Given the description of an element on the screen output the (x, y) to click on. 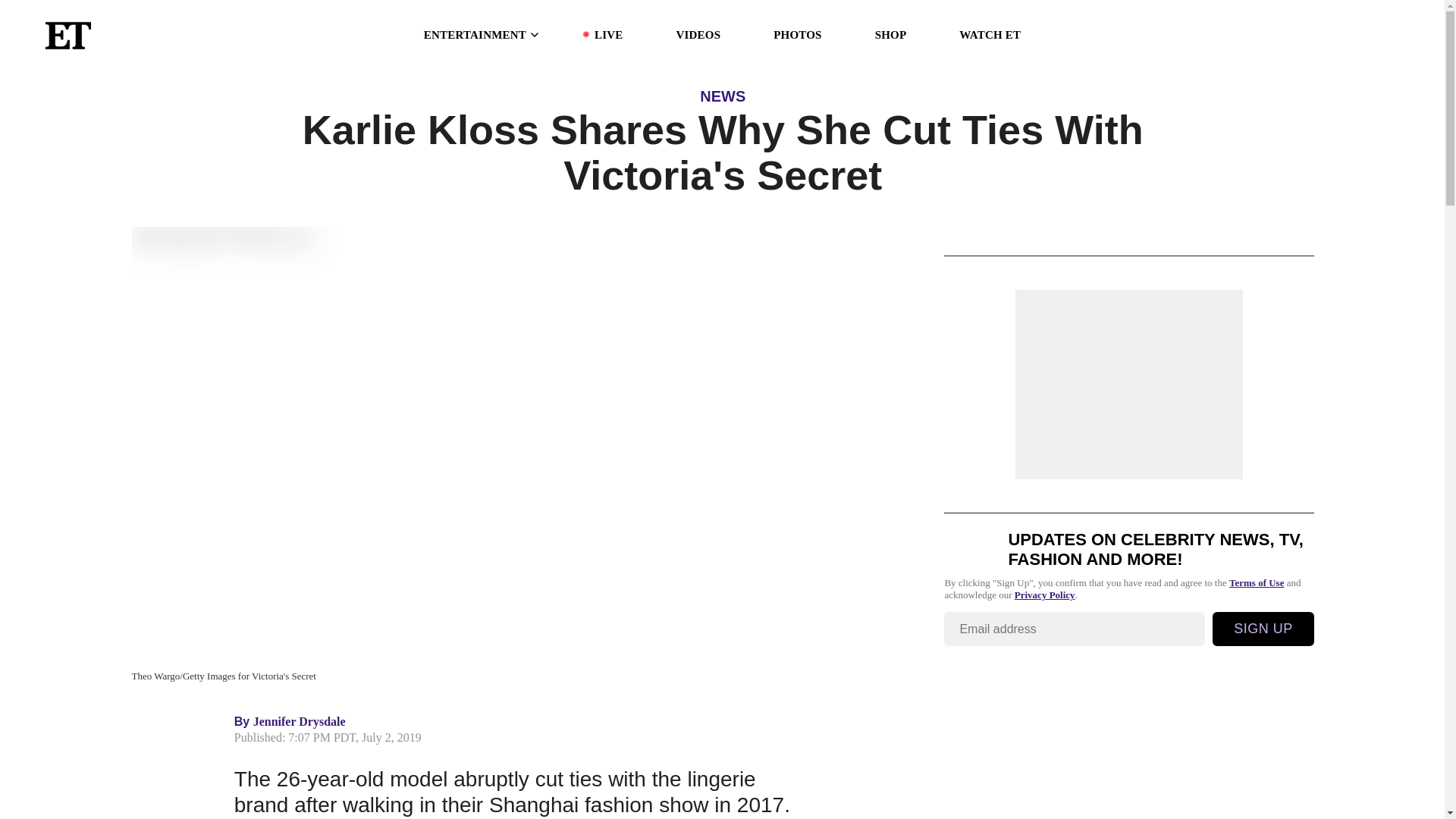
VIDEOS (697, 34)
PHOTOS (797, 34)
NEWS (722, 95)
LIVE (608, 34)
Terms of Use (1256, 582)
WATCH ET (989, 34)
Privacy Policy (1044, 594)
SHOP (891, 34)
Jennifer Drysdale (299, 721)
SIGN UP (1263, 628)
